Given the description of an element on the screen output the (x, y) to click on. 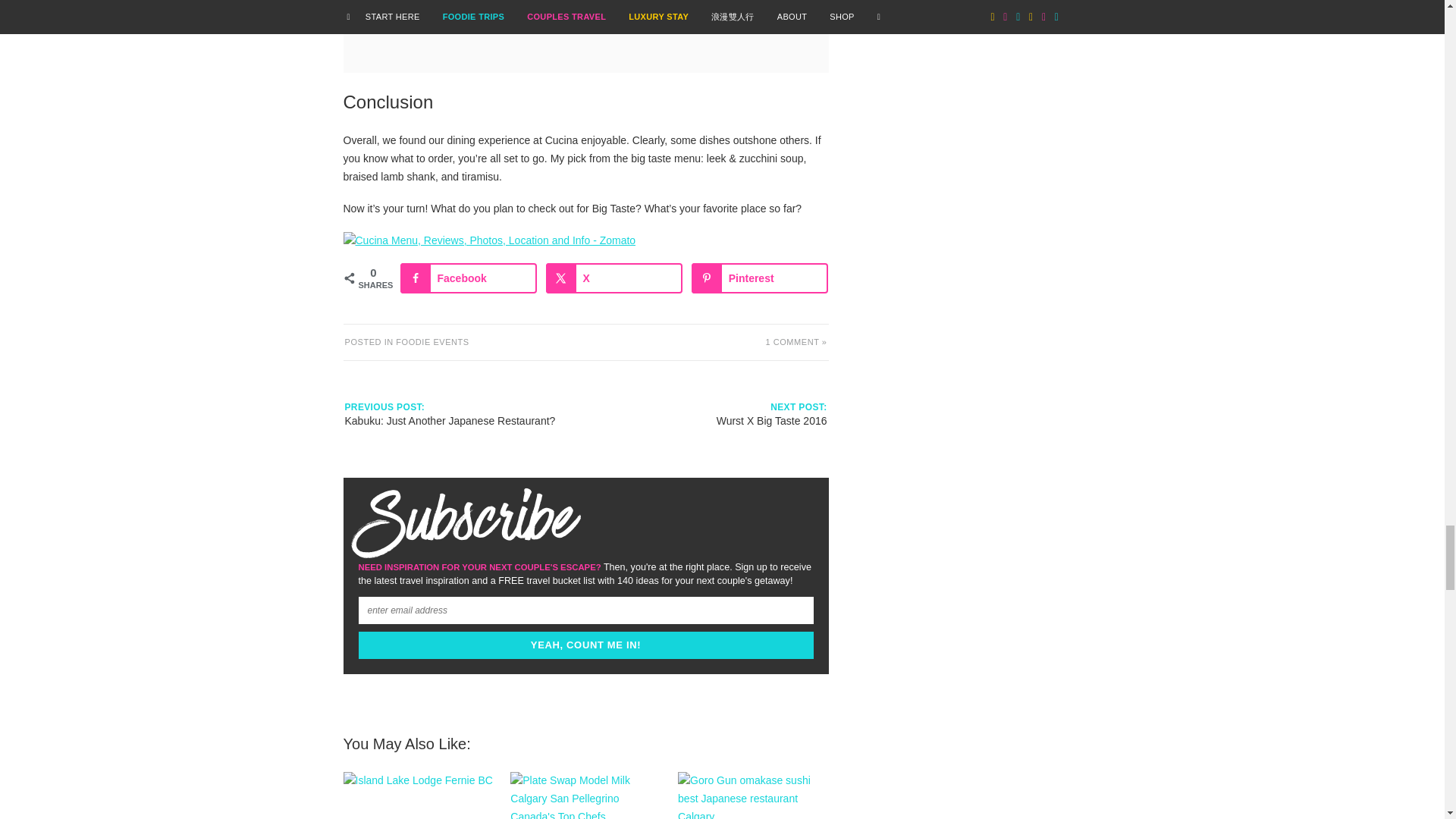
Best Japanese Restaurant For Omakase Sushi In Calgary (753, 795)
Save to Pinterest (759, 277)
Share on Facebook (468, 277)
Share on X (614, 277)
